Given the description of an element on the screen output the (x, y) to click on. 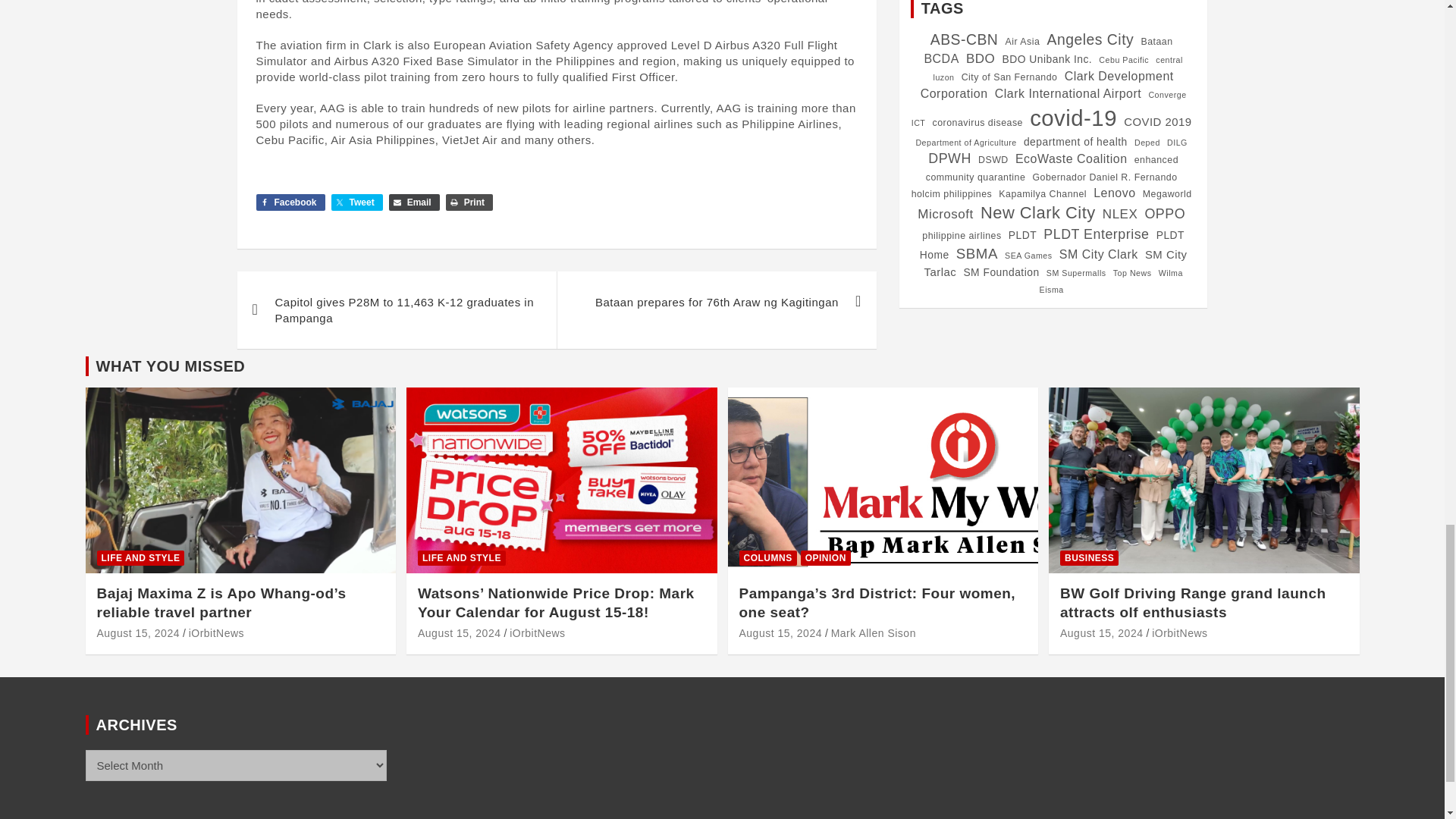
Share on Twitter (356, 202)
Email (413, 202)
Print this Page (469, 202)
Share via Email (413, 202)
Share on Facebook (290, 202)
